Given the description of an element on the screen output the (x, y) to click on. 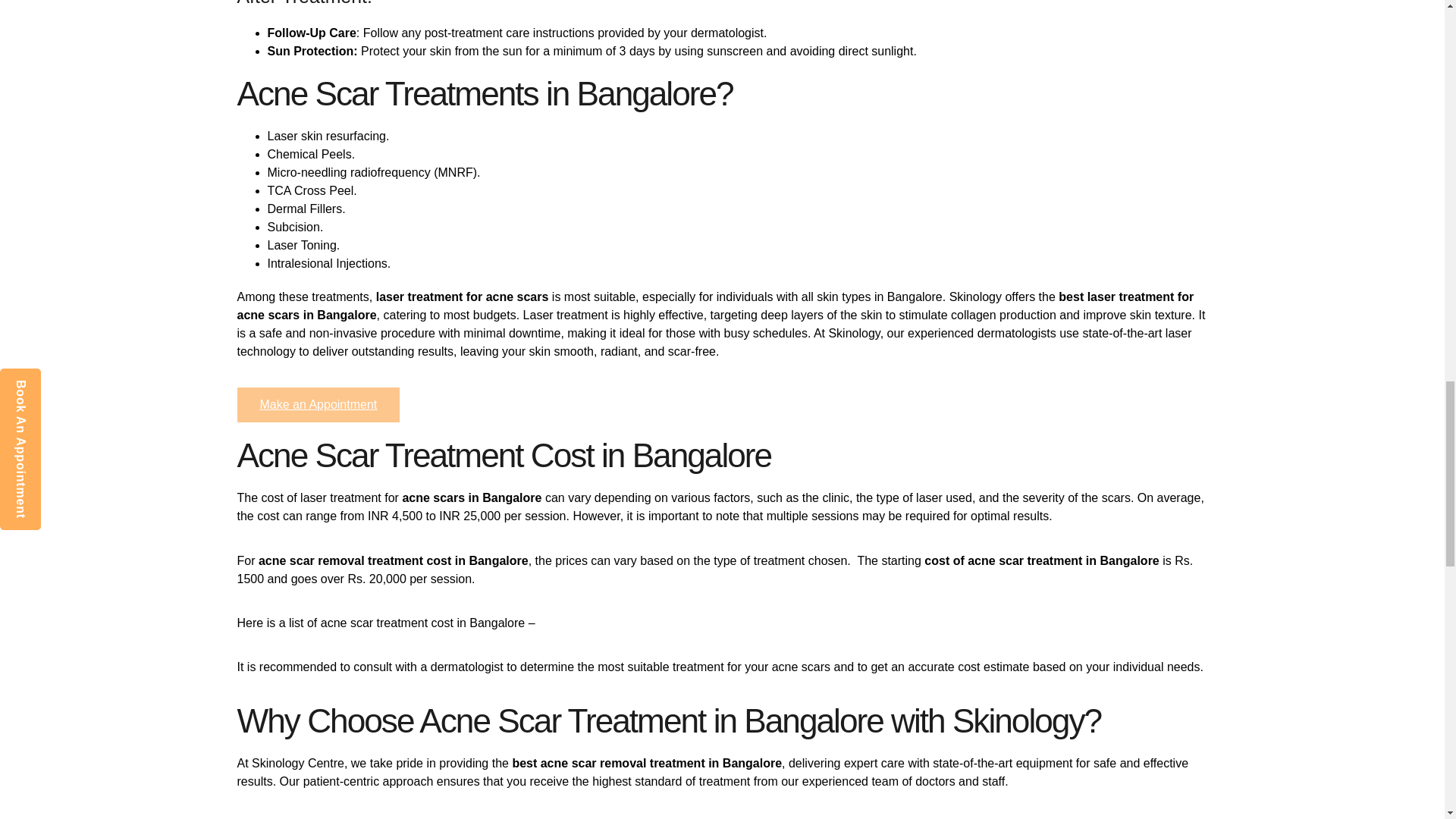
Make an Appointment (316, 404)
